Given the description of an element on the screen output the (x, y) to click on. 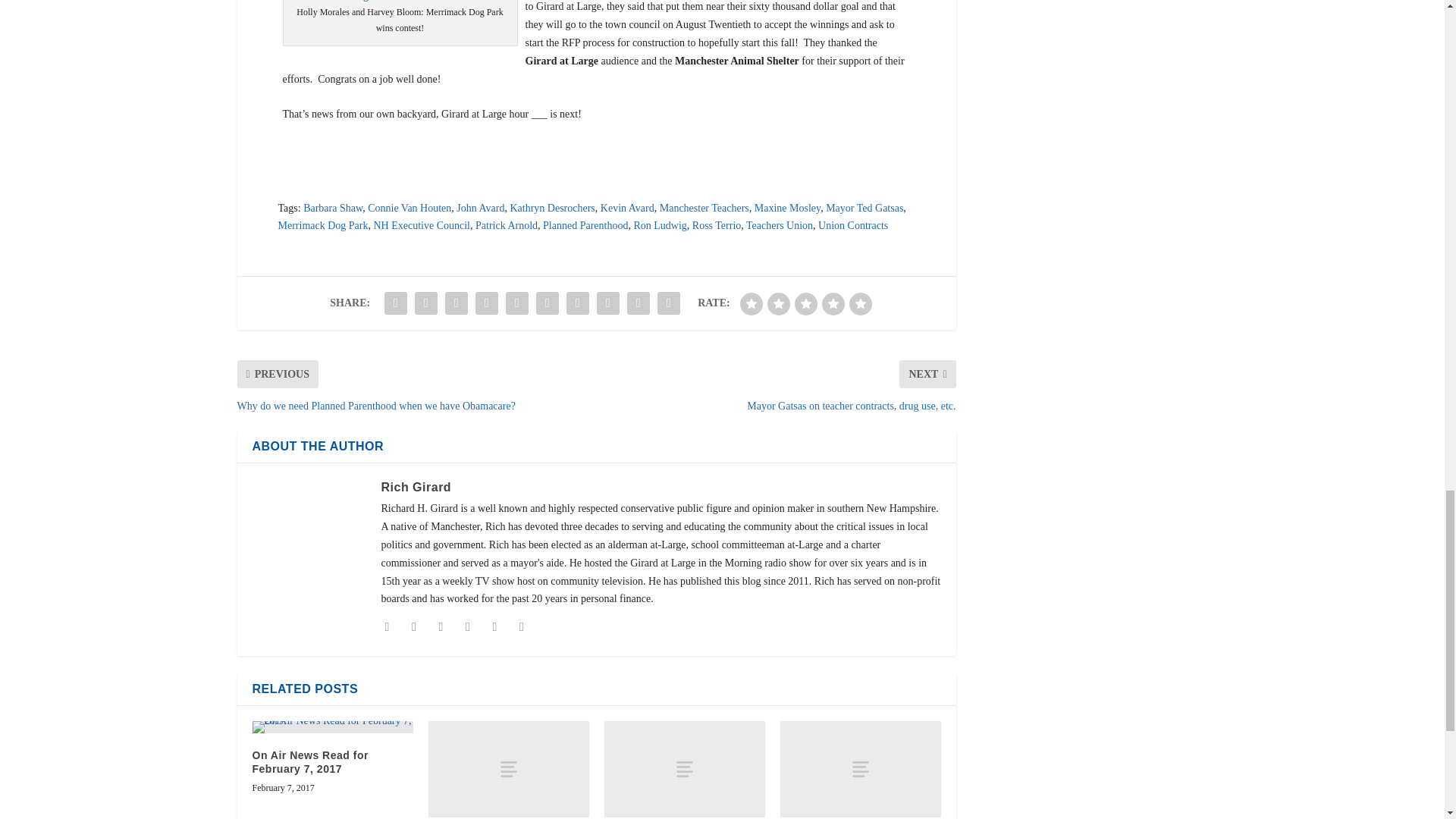
Share "On Air News Read for August 5, 2015" via Stumbleupon (607, 303)
Share "On Air News Read for August 5, 2015" via Pinterest (517, 303)
Share "On Air News Read for August 5, 2015" via Print (668, 303)
Share "On Air News Read for August 5, 2015" via Buffer (577, 303)
Share "On Air News Read for August 5, 2015" via LinkedIn (547, 303)
Share "On Air News Read for August 5, 2015" via Email (638, 303)
Share "On Air News Read for August 5, 2015" via Facebook (395, 303)
Share "On Air News Read for August 5, 2015" via Tumblr (486, 303)
Share "On Air News Read for August 5, 2015" via Twitter (425, 303)
